Given the description of an element on the screen output the (x, y) to click on. 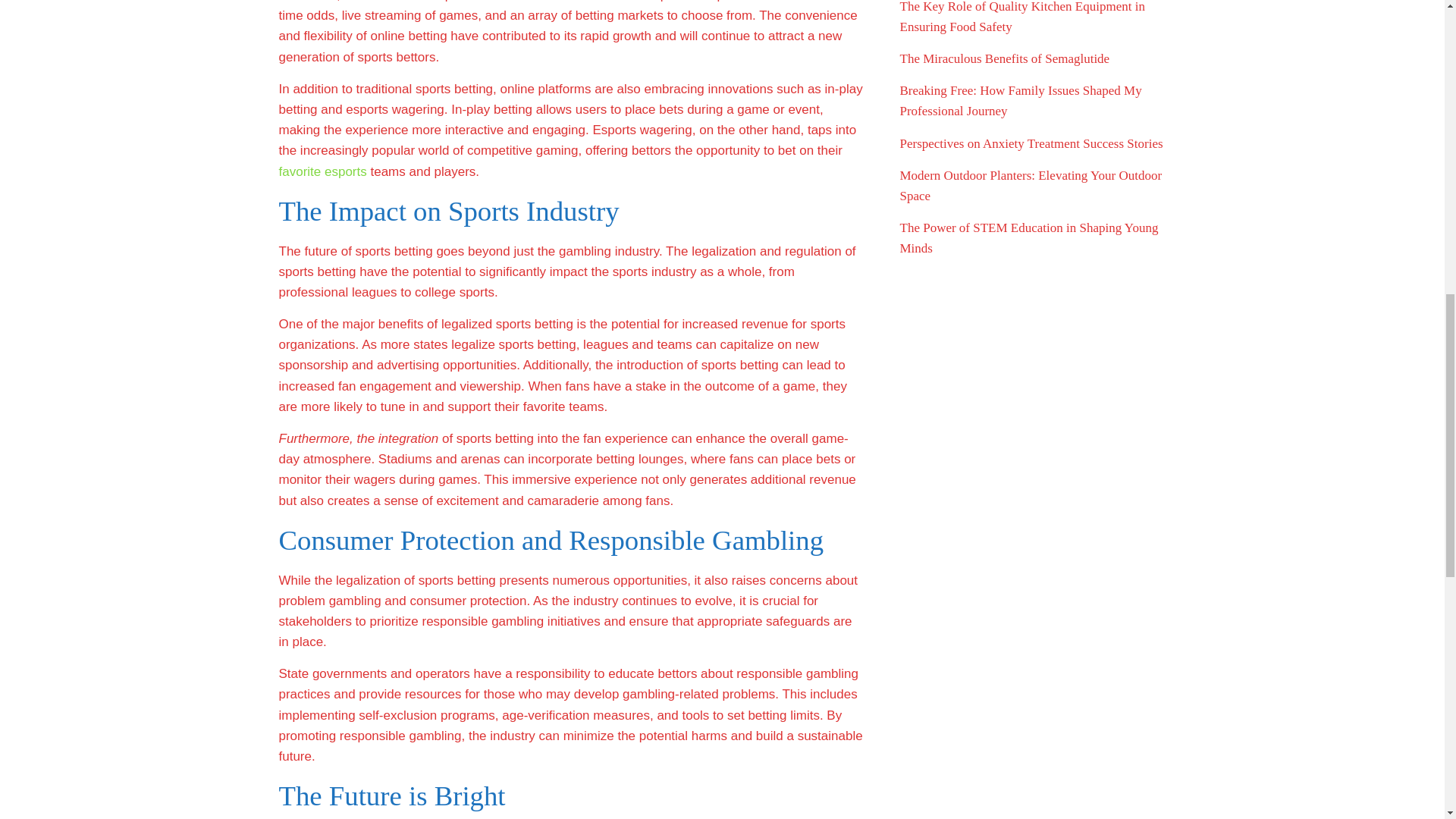
Perspectives on Anxiety Treatment Success Stories (1030, 143)
The Miraculous Benefits of Semaglutide (1004, 58)
favorite esports (322, 171)
Modern Outdoor Planters: Elevating Your Outdoor Space (1030, 185)
The Power of STEM Education in Shaping Young Minds (1028, 237)
